Given the description of an element on the screen output the (x, y) to click on. 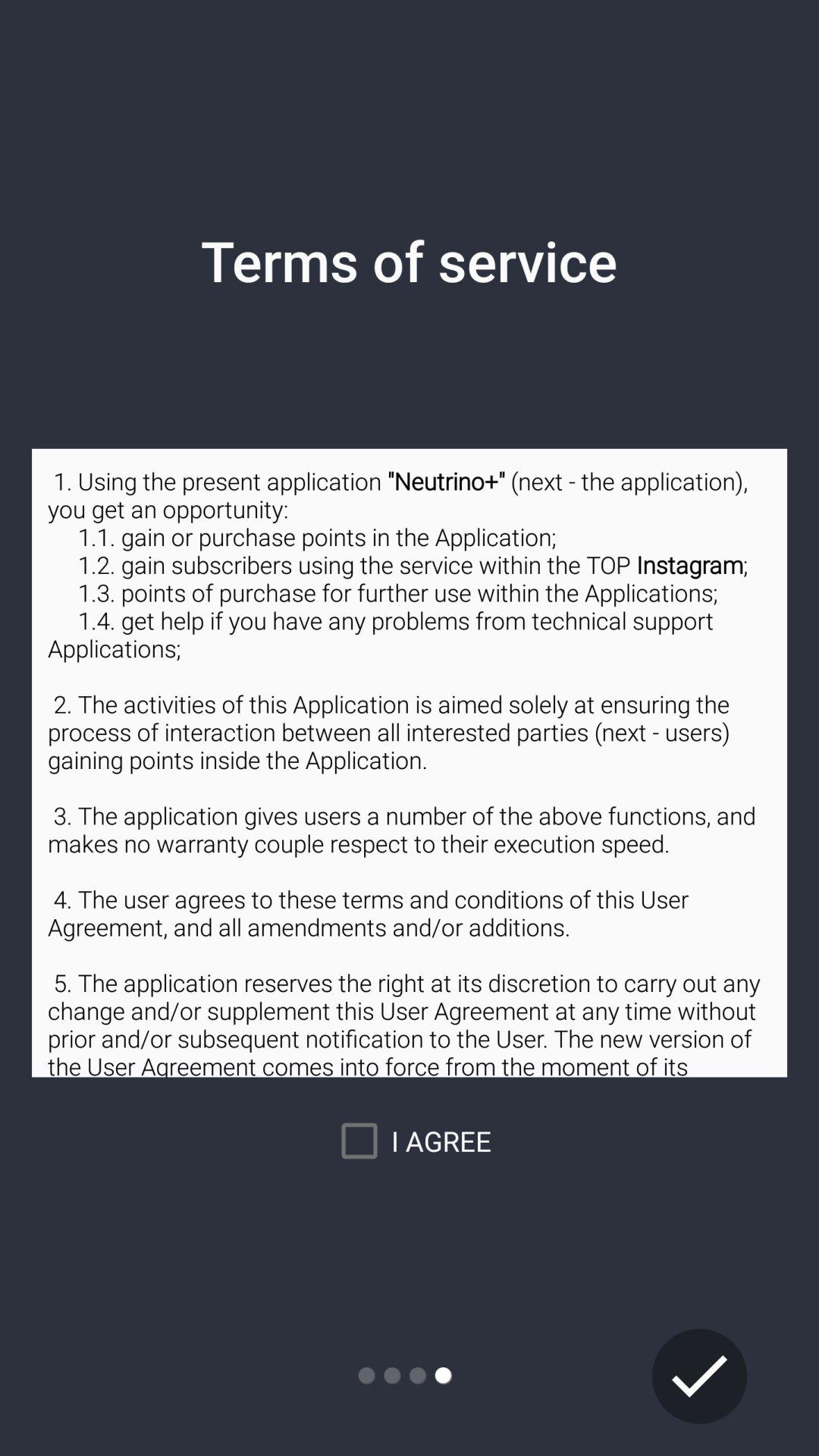
turn off i agree item (409, 1140)
